Given the description of an element on the screen output the (x, y) to click on. 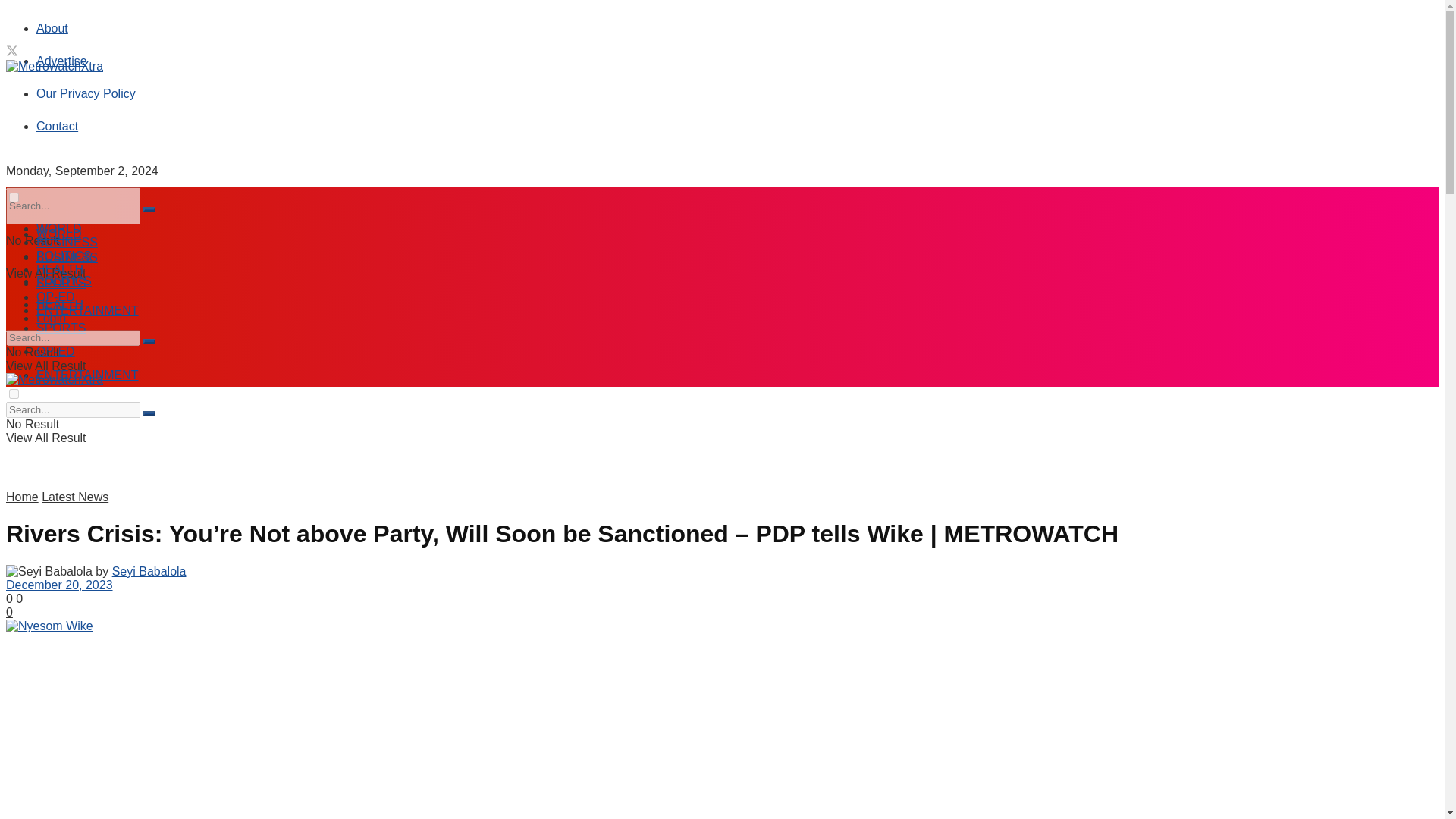
December 20, 2023 (59, 584)
Home (22, 496)
on (13, 197)
Seyi Babalola (149, 571)
Our Privacy Policy (85, 92)
Login (50, 318)
POLITICS (63, 255)
Latest News (74, 496)
HEALTH (59, 269)
OP-ED (55, 296)
